Given the description of an element on the screen output the (x, y) to click on. 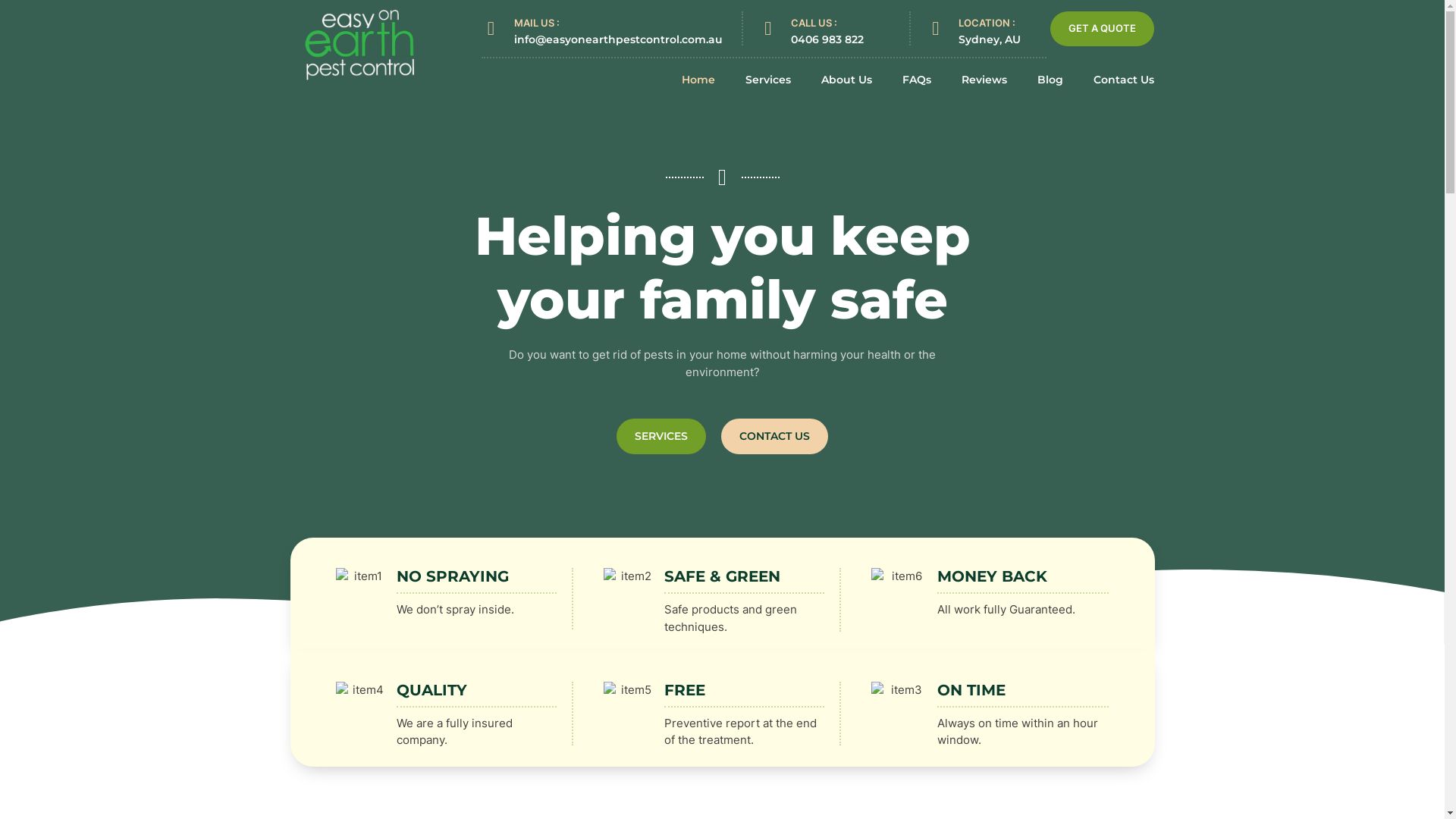
MAIL US : Element type: text (536, 22)
CONTACT US Element type: text (774, 436)
Blog Element type: text (1050, 79)
SERVICES Element type: text (661, 436)
Reviews Element type: text (984, 79)
Home Element type: text (698, 79)
FAQs Element type: text (916, 79)
CALL US : Element type: text (813, 22)
About Us Element type: text (846, 79)
Contact Us Element type: text (1123, 79)
info@easyonearthpestcontrol.com.au Element type: text (618, 39)
Services Element type: text (767, 79)
GET A QUOTE Element type: text (1102, 28)
